Given the description of an element on the screen output the (x, y) to click on. 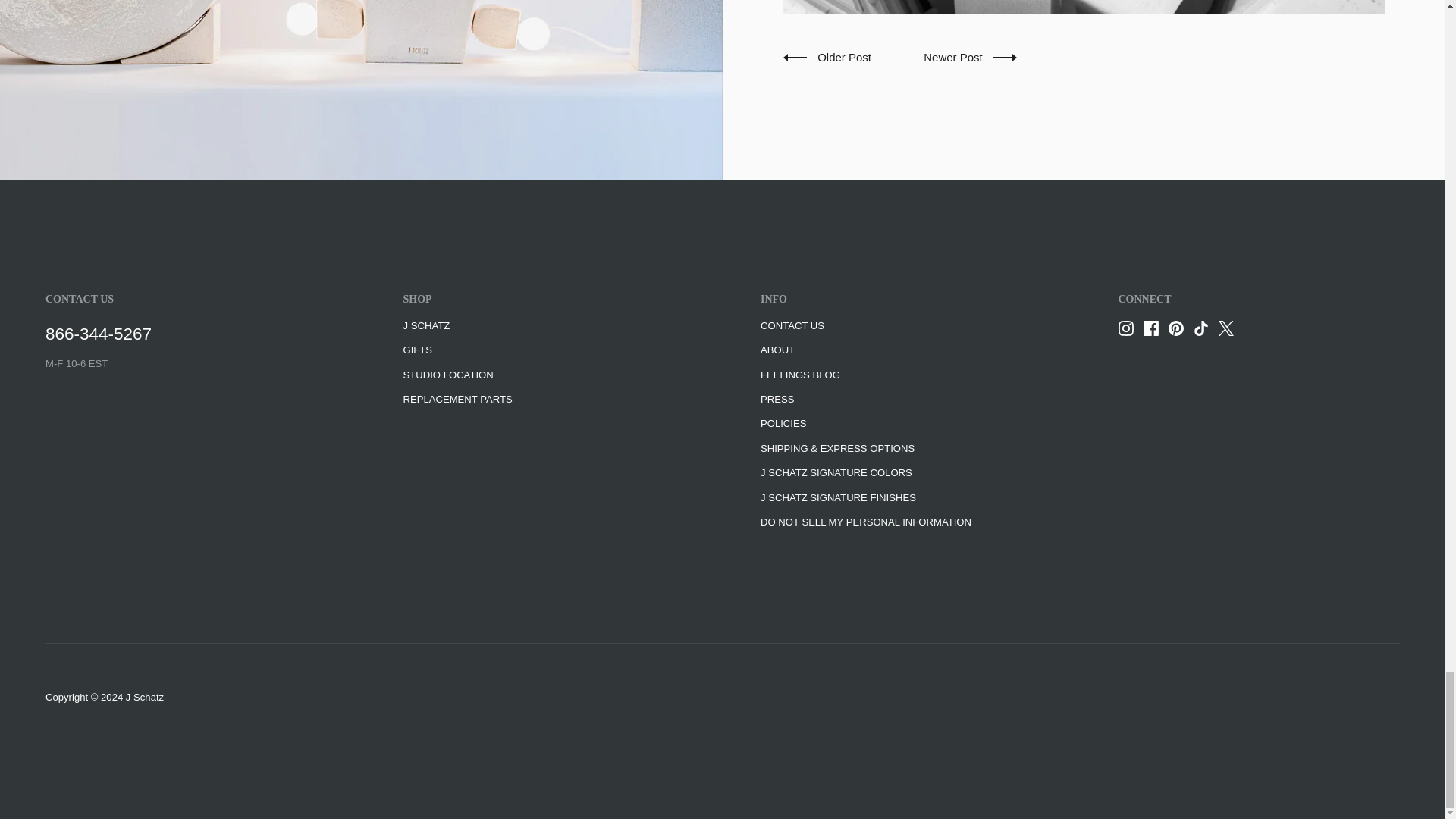
STUDIO LOCATION (448, 376)
FEELINGS BLOG (800, 376)
866-344-5267 (98, 333)
Contact Us (98, 333)
ABOUT (777, 350)
Older Post (829, 58)
Newer Post (969, 57)
J SCHATZ (426, 326)
CONTACT US (792, 326)
GIFTS (417, 350)
REPLACEMENT PARTS (457, 400)
